Given the description of an element on the screen output the (x, y) to click on. 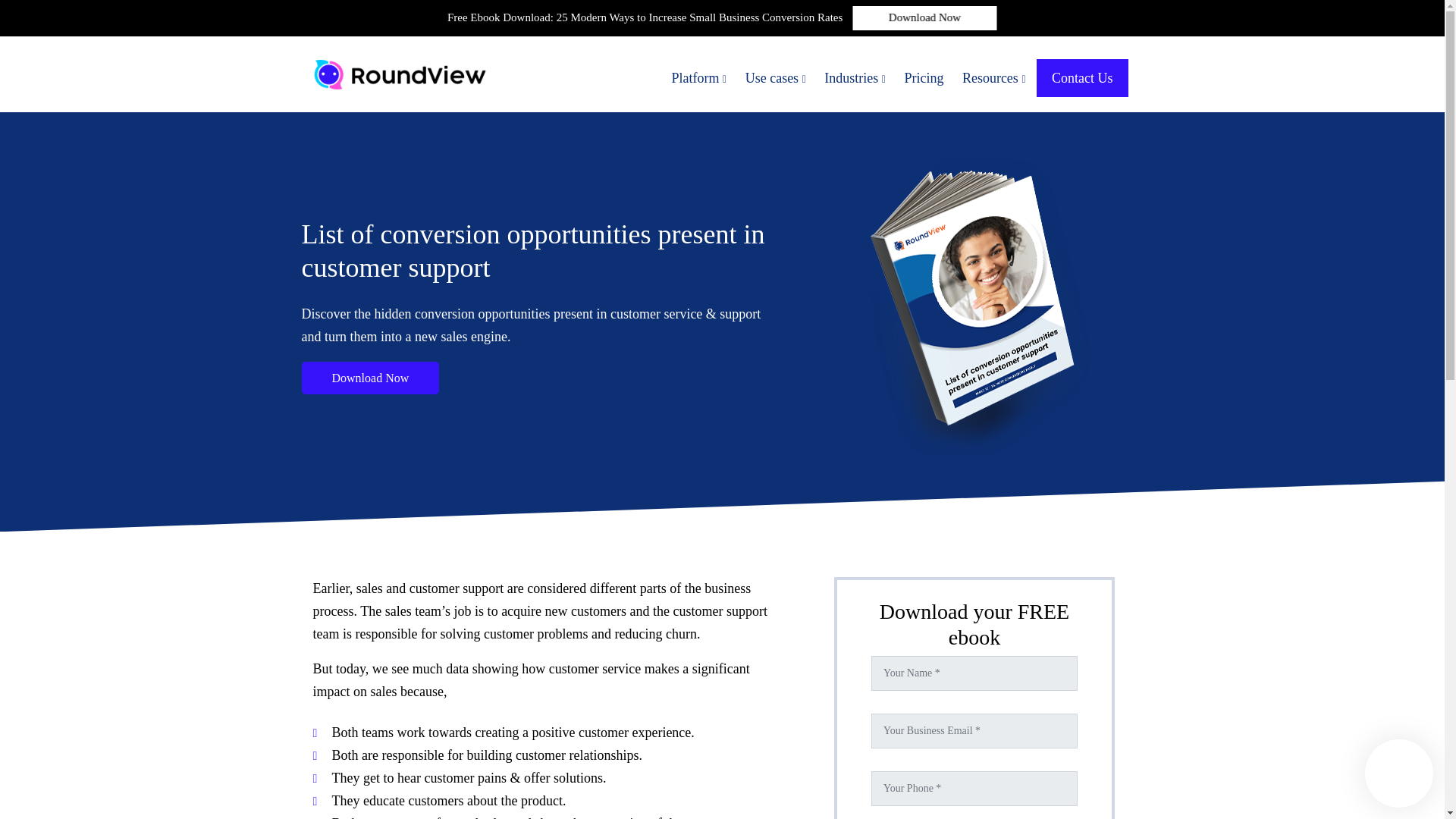
Platform (699, 76)
Resources (994, 76)
RoundView Bot Trigger (1322, 663)
Pricing (923, 76)
Industries (854, 76)
RoundView (399, 74)
Use cases (775, 76)
RoundView Bot Toggle (1398, 773)
Download Now (370, 377)
Contact Us (1082, 77)
